Given the description of an element on the screen output the (x, y) to click on. 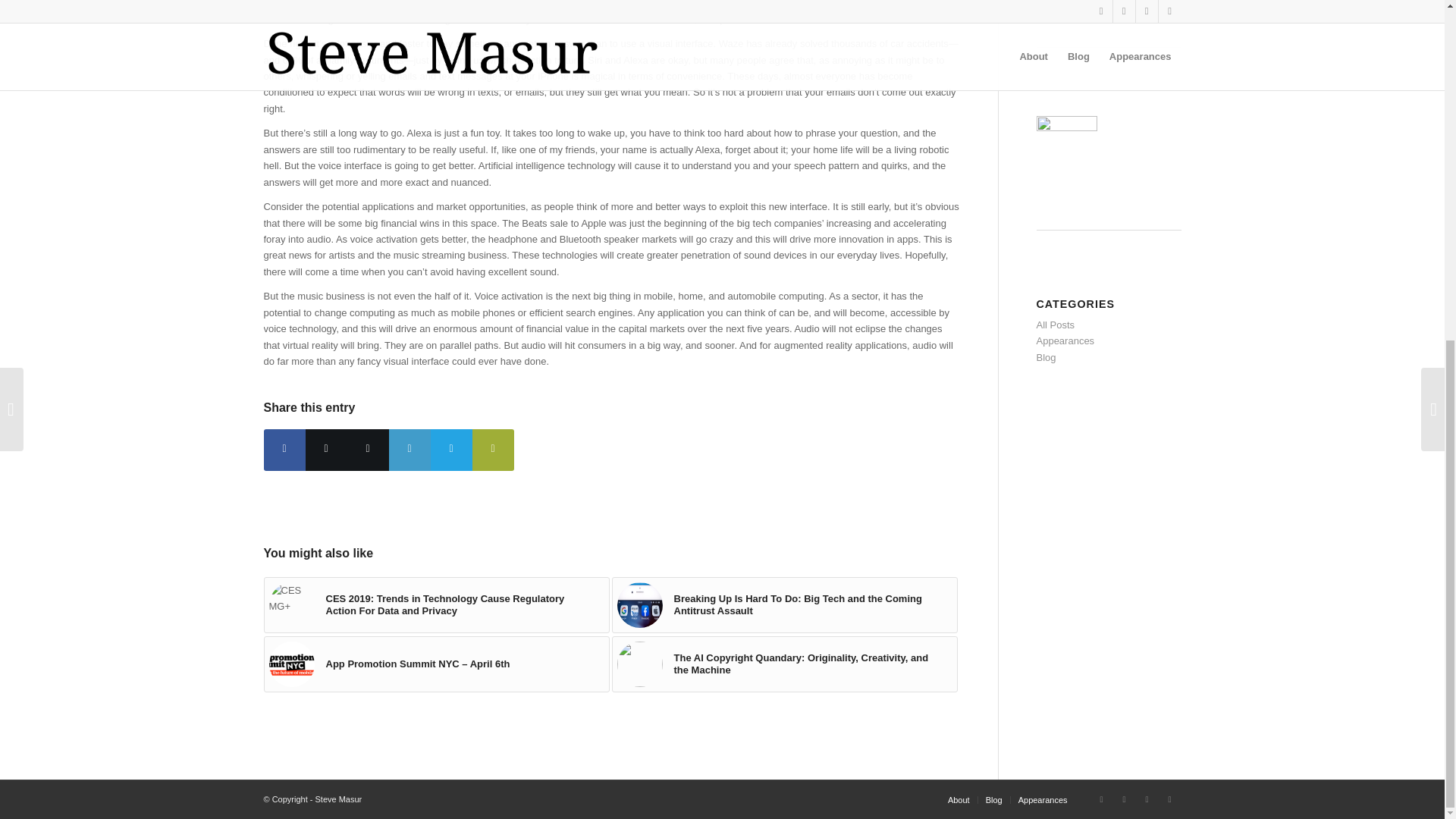
All Posts (1054, 324)
